Given the description of an element on the screen output the (x, y) to click on. 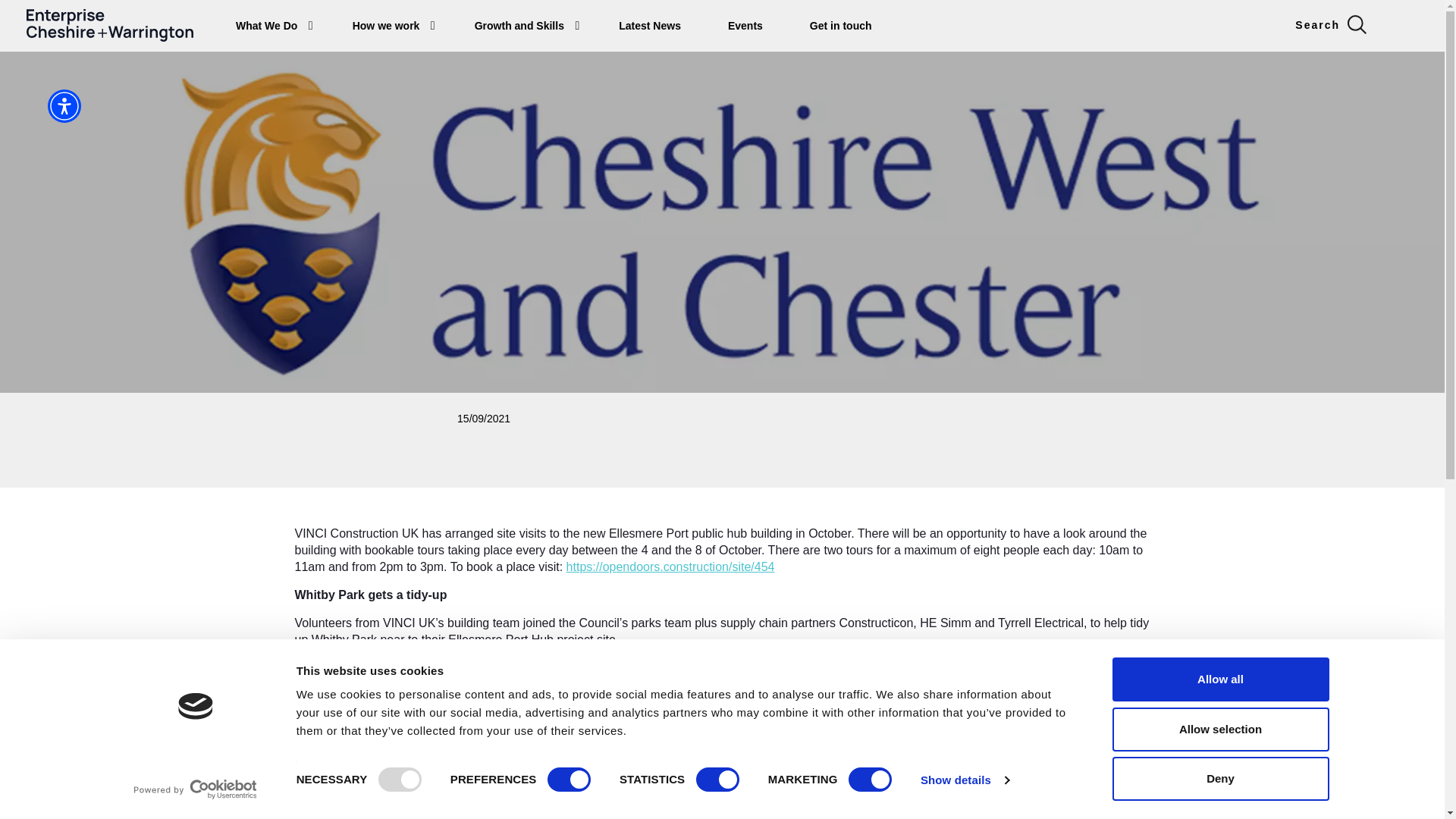
Deny (1219, 778)
Accessibility Menu (64, 105)
Allow selection (1219, 728)
Show details (964, 780)
